Given the description of an element on the screen output the (x, y) to click on. 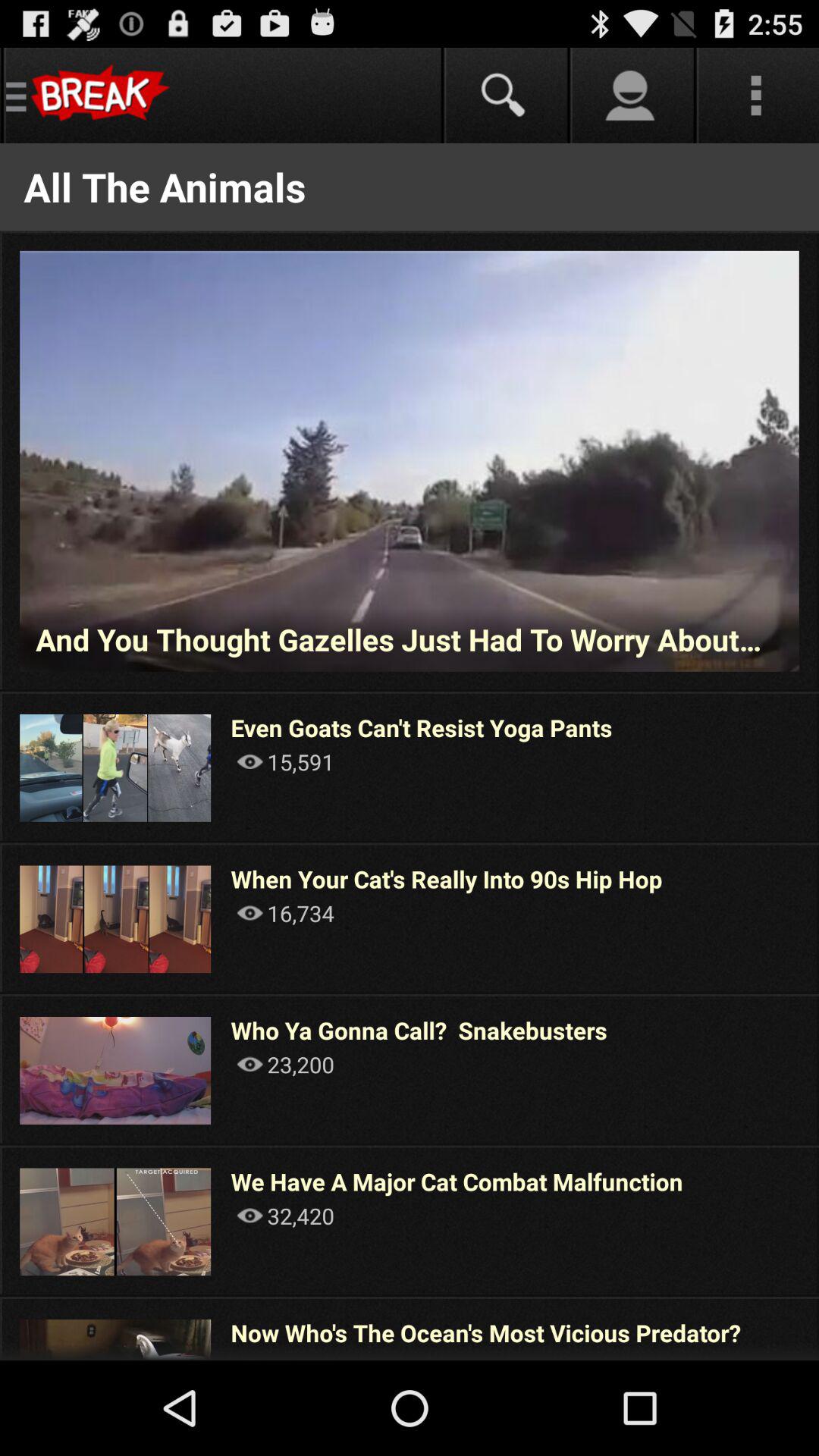
launch the icon above 15,591 item (421, 727)
